Given the description of an element on the screen output the (x, y) to click on. 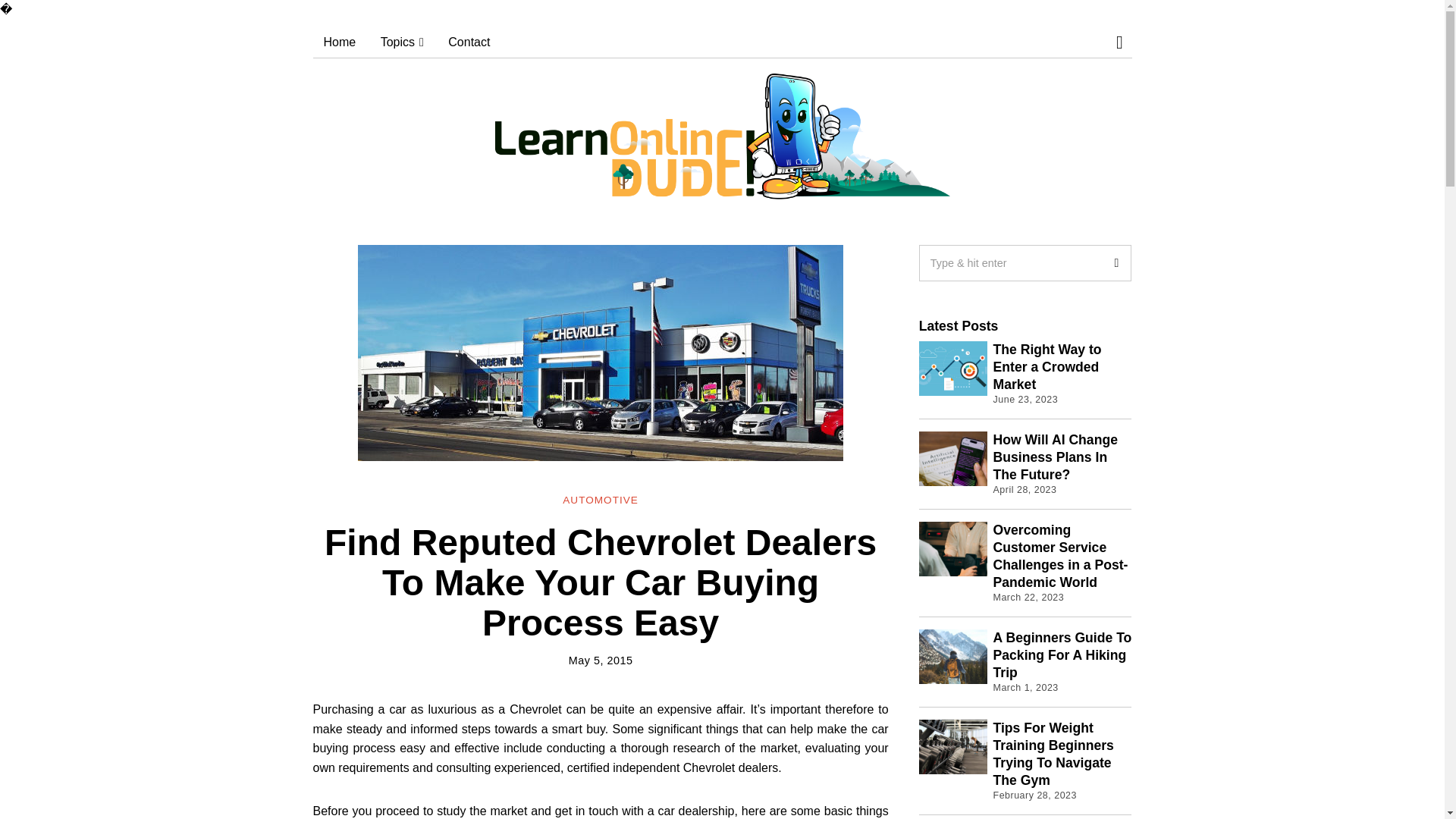
Contact (469, 42)
AUTOMOTIVE (600, 500)
Go (1112, 262)
Home (339, 42)
How Will AI Change Business Plans In The Future? (1055, 457)
Topics (401, 42)
The Right Way to Enter a Crowded Market (1047, 367)
